Given the description of an element on the screen output the (x, y) to click on. 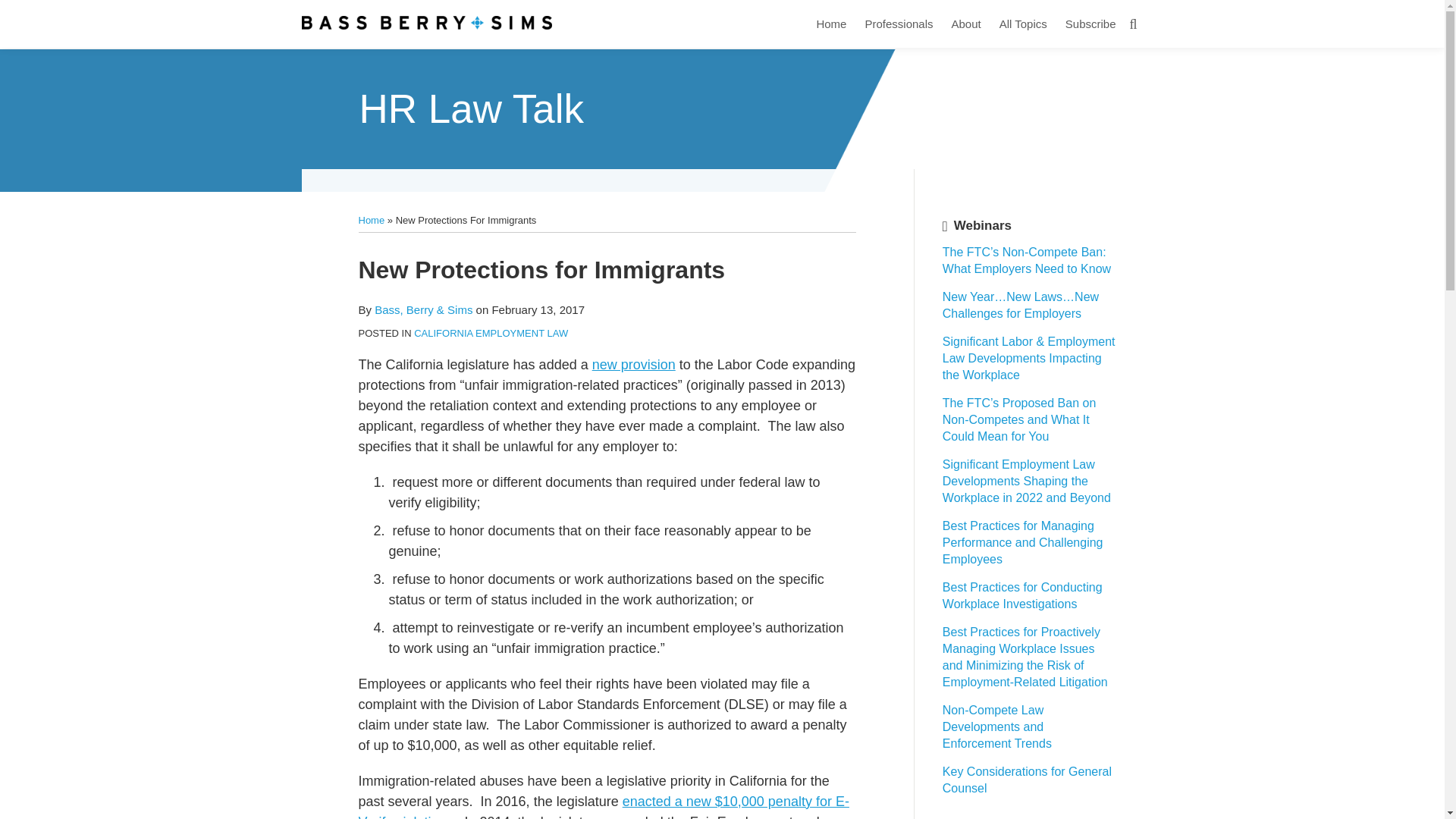
Home (371, 220)
new provision (633, 364)
Subscribe (1090, 24)
About (964, 24)
Best Practices for Conducting Workplace Investigations (1022, 595)
All Topics (1022, 24)
Professionals (898, 24)
HR Law Talk (472, 108)
CALIFORNIA EMPLOYMENT LAW (490, 333)
Home (830, 24)
